Given the description of an element on the screen output the (x, y) to click on. 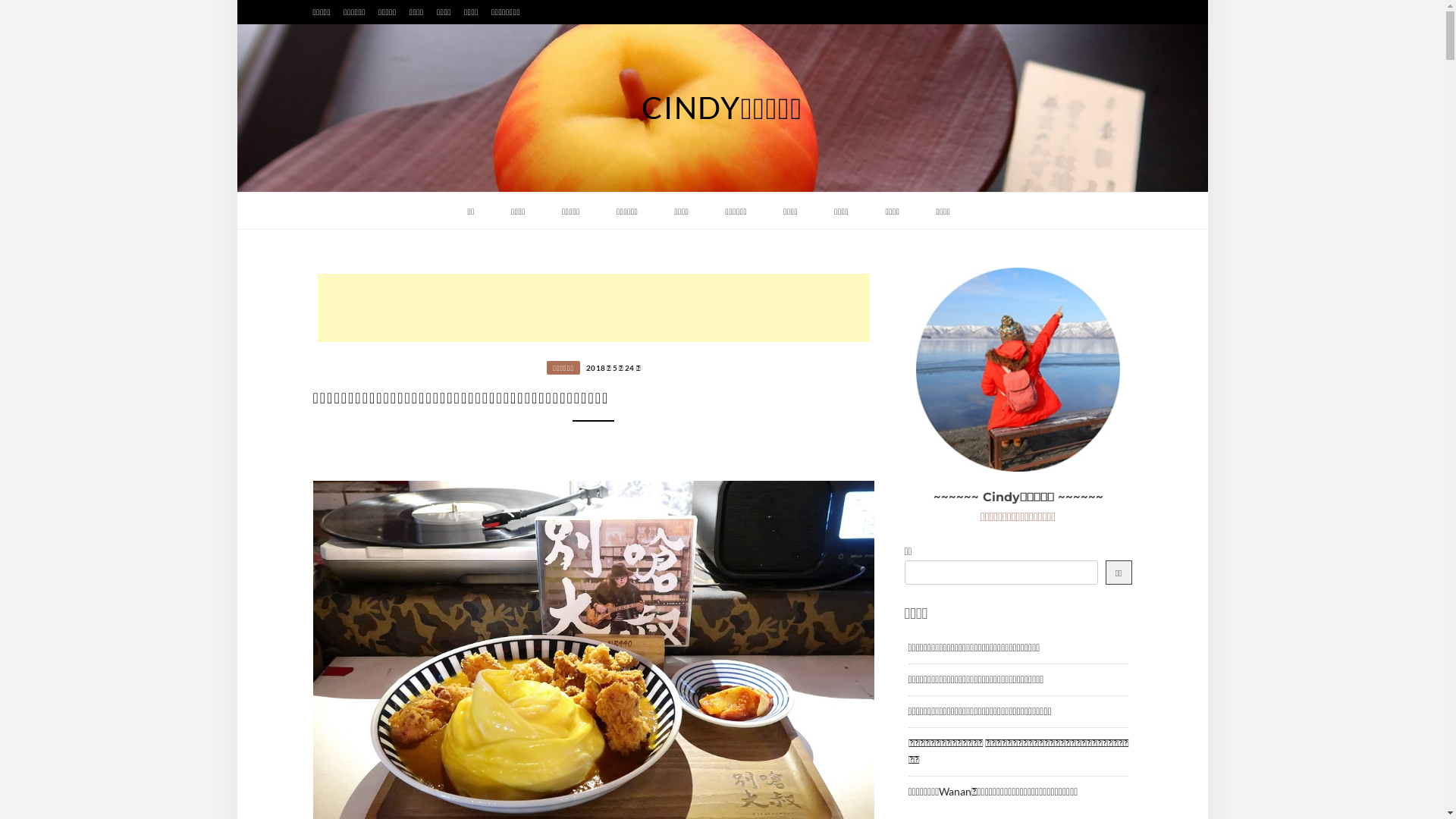
Advertisement Element type: hover (592, 307)
